Given the description of an element on the screen output the (x, y) to click on. 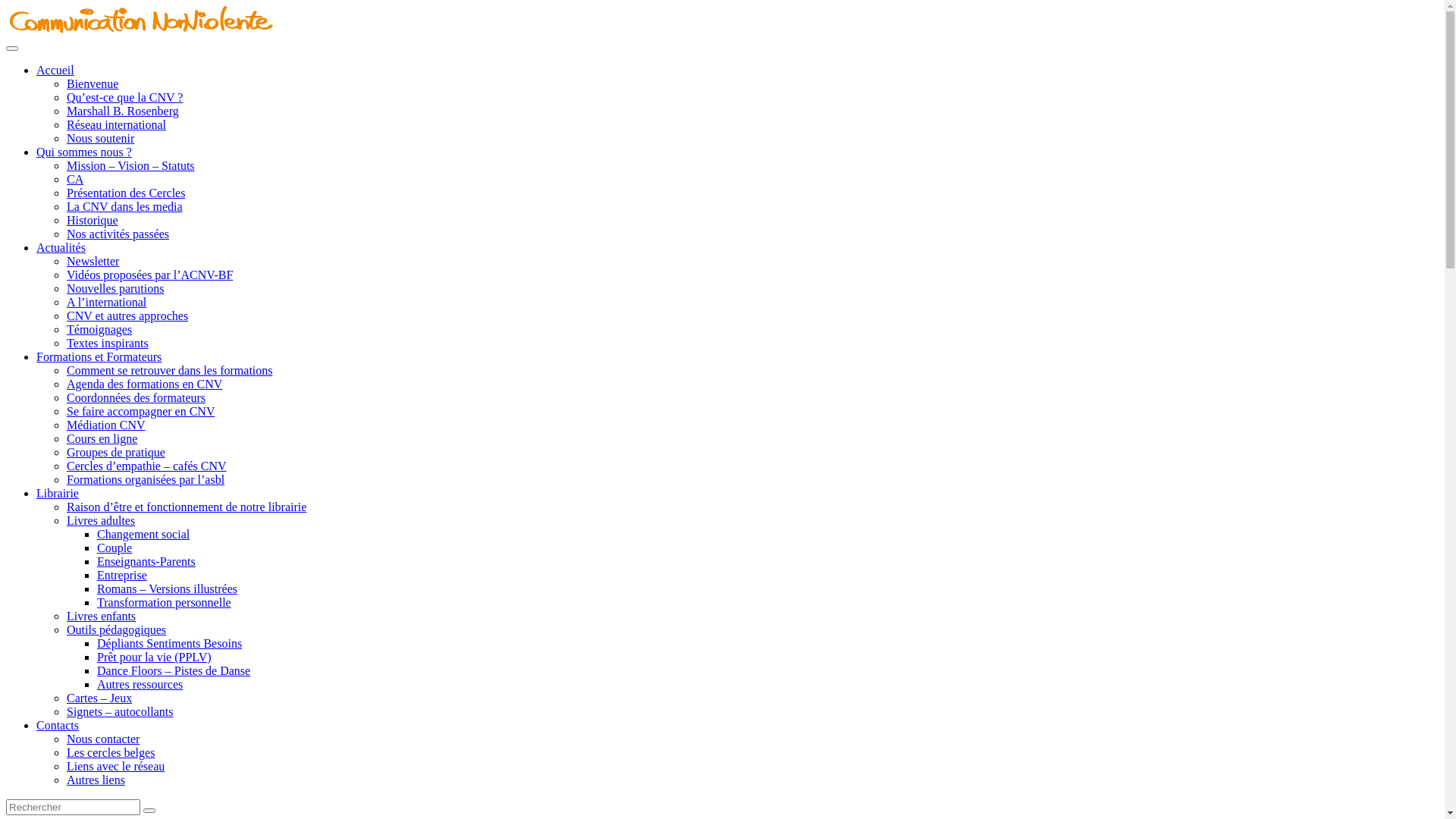
Textes inspirants Element type: text (107, 342)
Accueil Element type: text (55, 69)
Agenda des formations en CNV Element type: text (144, 383)
Entreprise Element type: text (122, 574)
Bienvenue Element type: text (92, 83)
Autres ressources Element type: text (139, 683)
Livres enfants Element type: text (100, 615)
Groupes de pratique Element type: text (115, 451)
Qui sommes nous ? Element type: text (83, 151)
Enseignants-Parents Element type: text (146, 561)
Livres adultes Element type: text (100, 520)
Changement social Element type: text (143, 533)
Historique Element type: text (92, 219)
Nous contacter Element type: text (102, 738)
Cours en ligne Element type: text (101, 438)
Autres liens Element type: text (95, 779)
Formations et Formateurs Element type: text (98, 356)
Comment se retrouver dans les formations Element type: text (169, 370)
Contacts Element type: text (57, 724)
Librairie Element type: text (57, 492)
Newsletter Element type: text (92, 260)
Transformation personnelle Element type: text (164, 602)
Marshall B. Rosenberg Element type: text (122, 110)
Se faire accompagner en CNV Element type: text (140, 410)
CA Element type: text (74, 178)
Couple Element type: text (114, 547)
Nouvelles parutions Element type: text (114, 288)
CNV et autres approches Element type: text (127, 315)
Nous soutenir Element type: text (100, 137)
La CNV dans les media Element type: text (124, 206)
Les cercles belges Element type: text (110, 752)
